Given the description of an element on the screen output the (x, y) to click on. 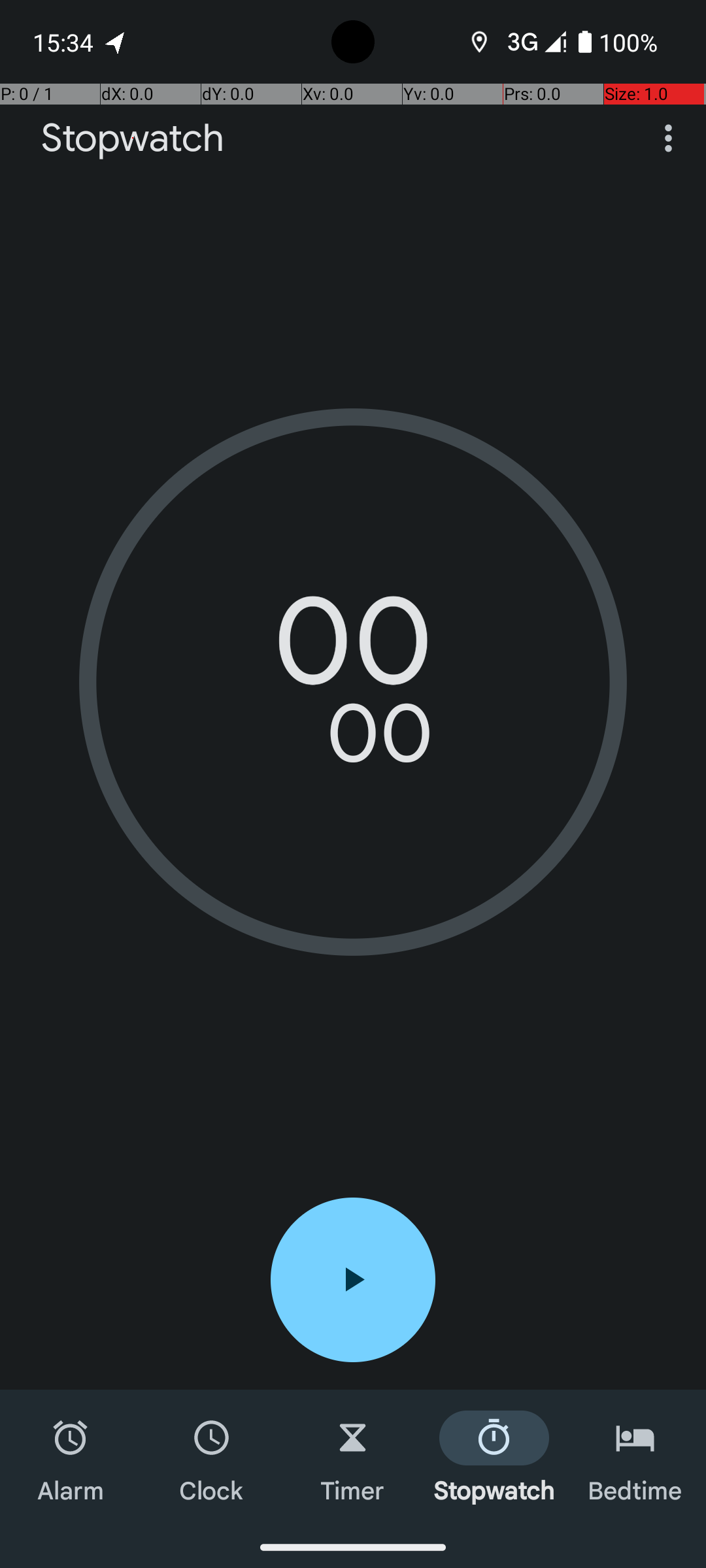
Start Element type: android.widget.Button (352, 1279)
OpenTracks notification: Distance: 0.00 ft Element type: android.widget.ImageView (115, 41)
